Given the description of an element on the screen output the (x, y) to click on. 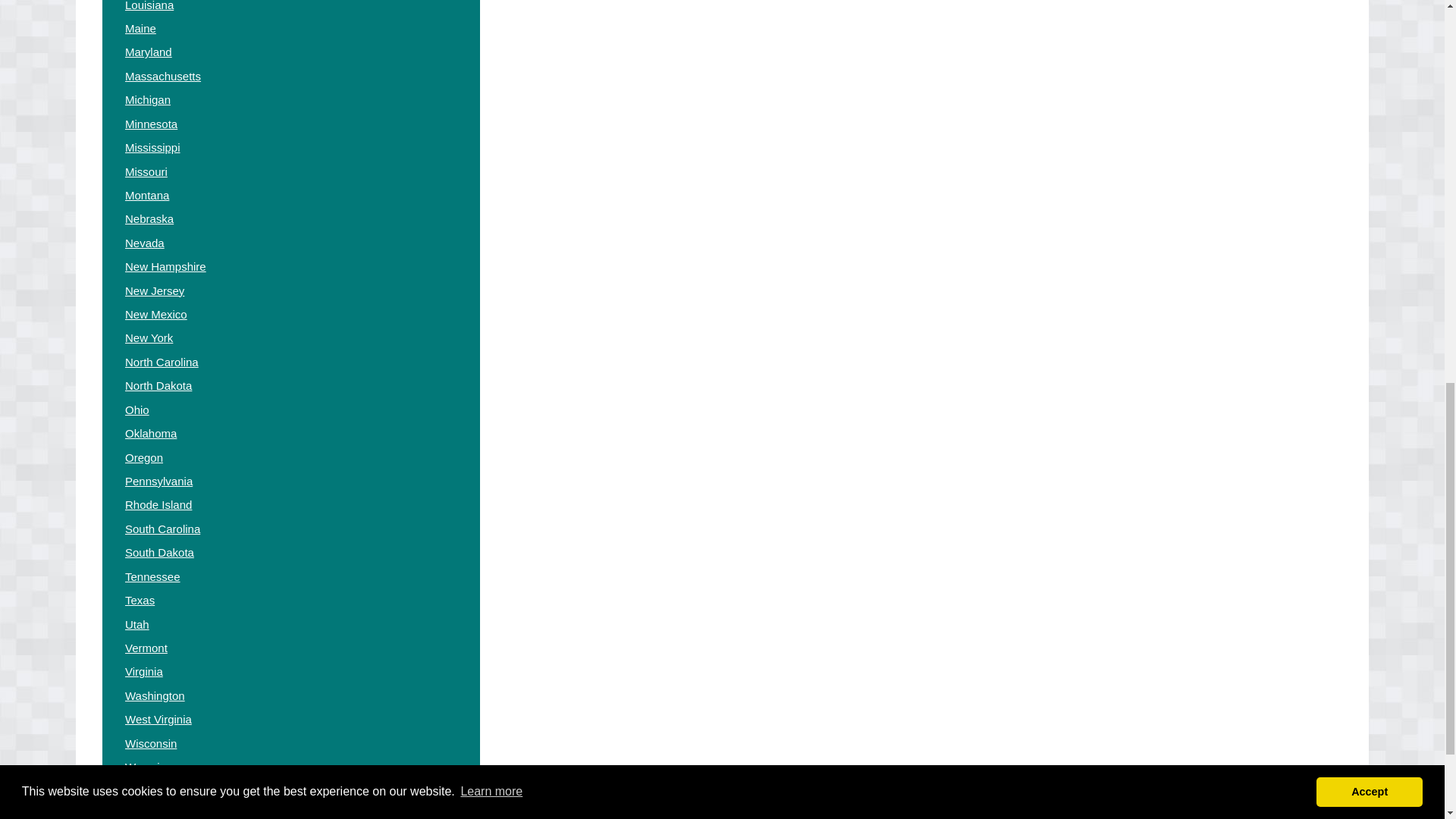
Maryland (148, 51)
Montana (146, 195)
Louisiana (149, 5)
Michigan (147, 99)
Massachusetts (162, 75)
New York (149, 337)
Nevada (144, 242)
Minnesota (151, 123)
Mississippi (152, 146)
Missouri (146, 171)
New Mexico (156, 314)
New Hampshire (165, 266)
New Jersey (154, 290)
Maine (140, 28)
Nebraska (149, 218)
